Given the description of an element on the screen output the (x, y) to click on. 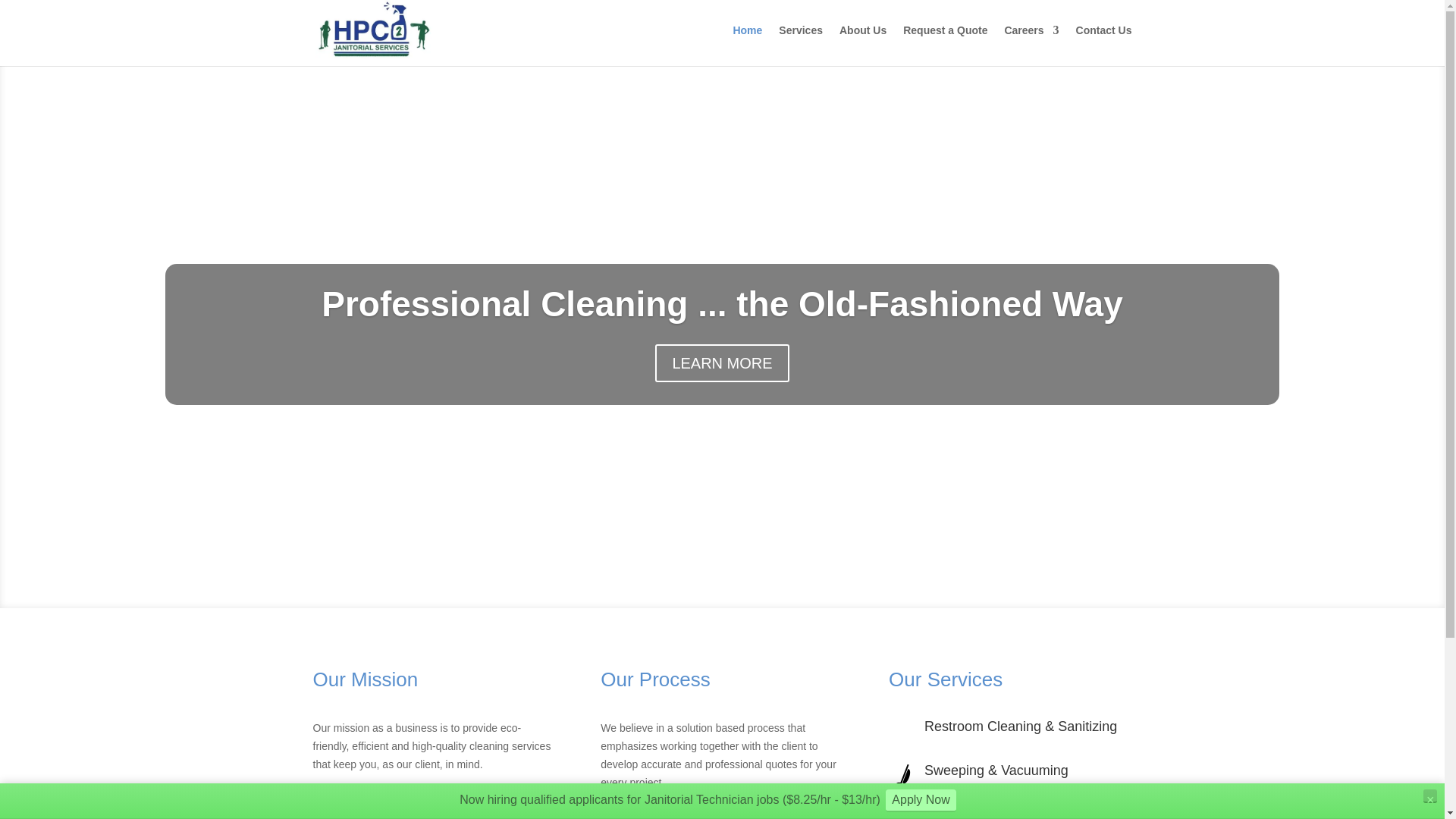
Our Mission (365, 679)
Our Services (945, 679)
Services (800, 42)
Careers (1031, 42)
Contact Us (1103, 42)
Apply Now (920, 800)
Our Process (654, 679)
Window Washing (976, 814)
